Given the description of an element on the screen output the (x, y) to click on. 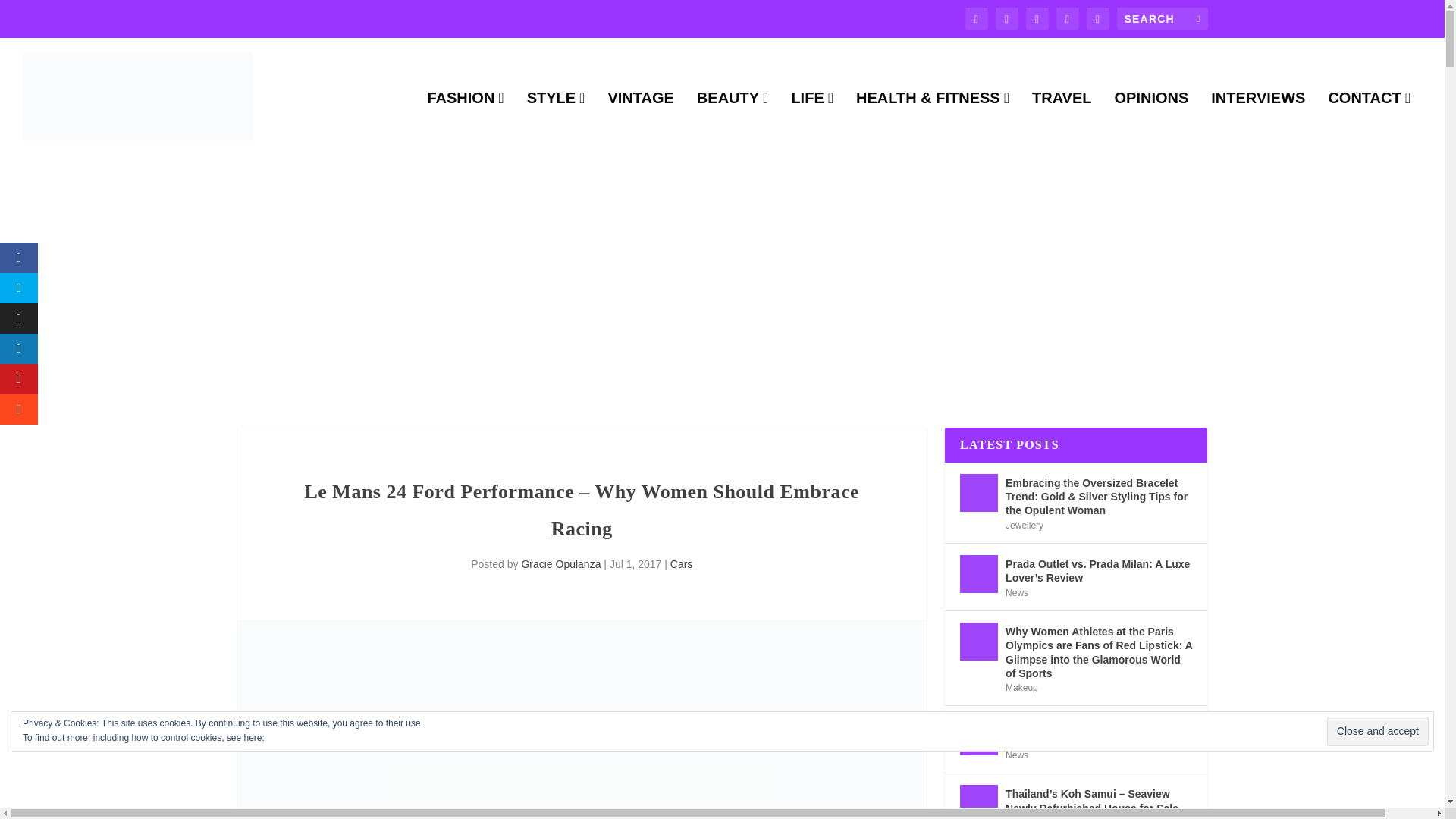
BEAUTY (732, 122)
Posts by Gracie Opulanza (560, 563)
VINTAGE (639, 122)
Search for: (1161, 18)
Close and accept (1377, 731)
STYLE (556, 122)
FASHION (464, 122)
